Given the description of an element on the screen output the (x, y) to click on. 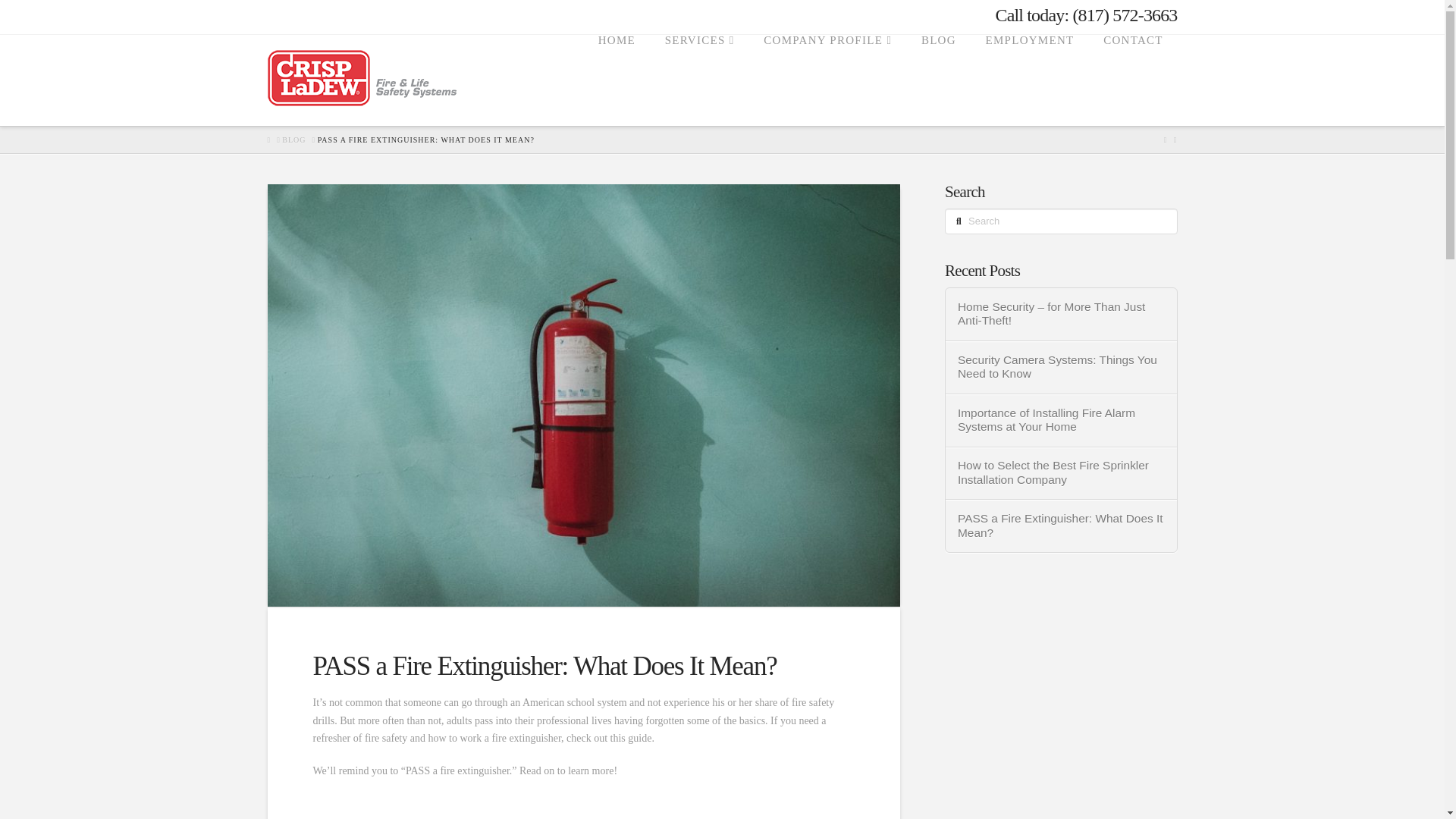
COMPANY PROFILE (826, 80)
You Are Here (425, 140)
EMPLOYMENT (1030, 80)
SERVICES (699, 80)
CONTACT (1131, 80)
